Given the description of an element on the screen output the (x, y) to click on. 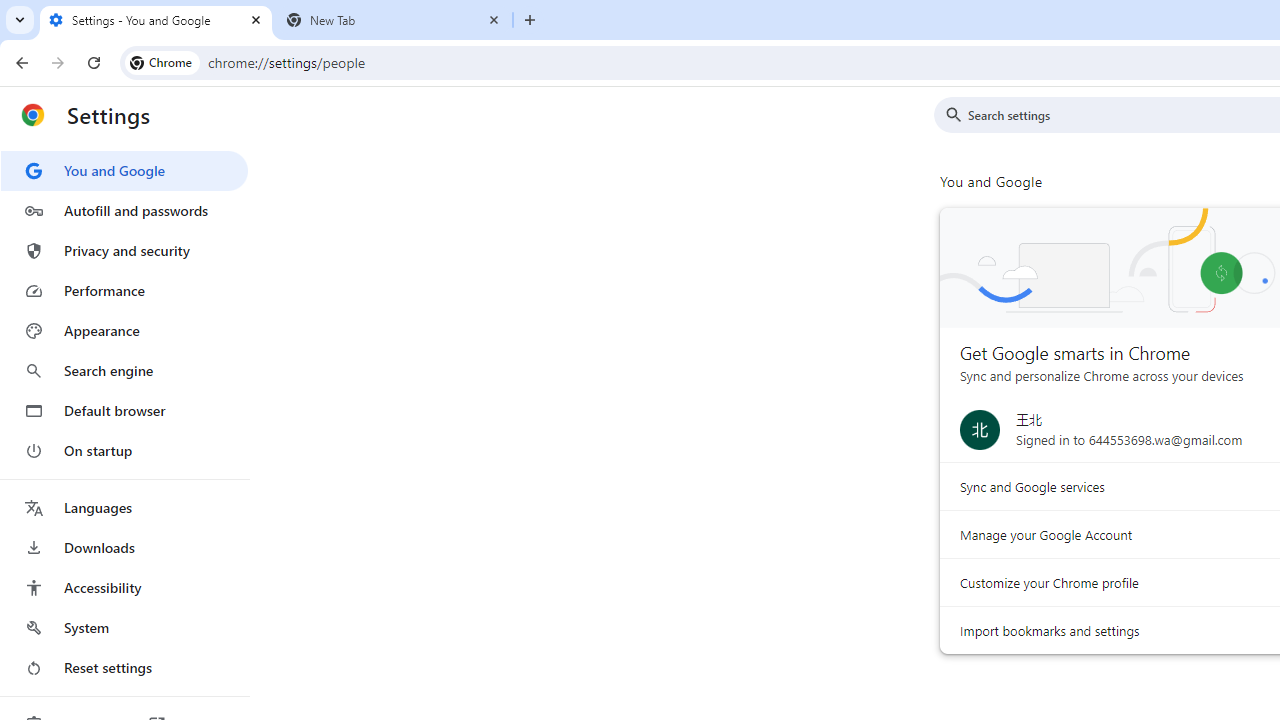
Appearance (124, 331)
Languages (124, 507)
Reset settings (124, 668)
Settings - You and Google (156, 20)
Privacy and security (124, 250)
You and Google (124, 170)
Performance (124, 290)
